Given the description of an element on the screen output the (x, y) to click on. 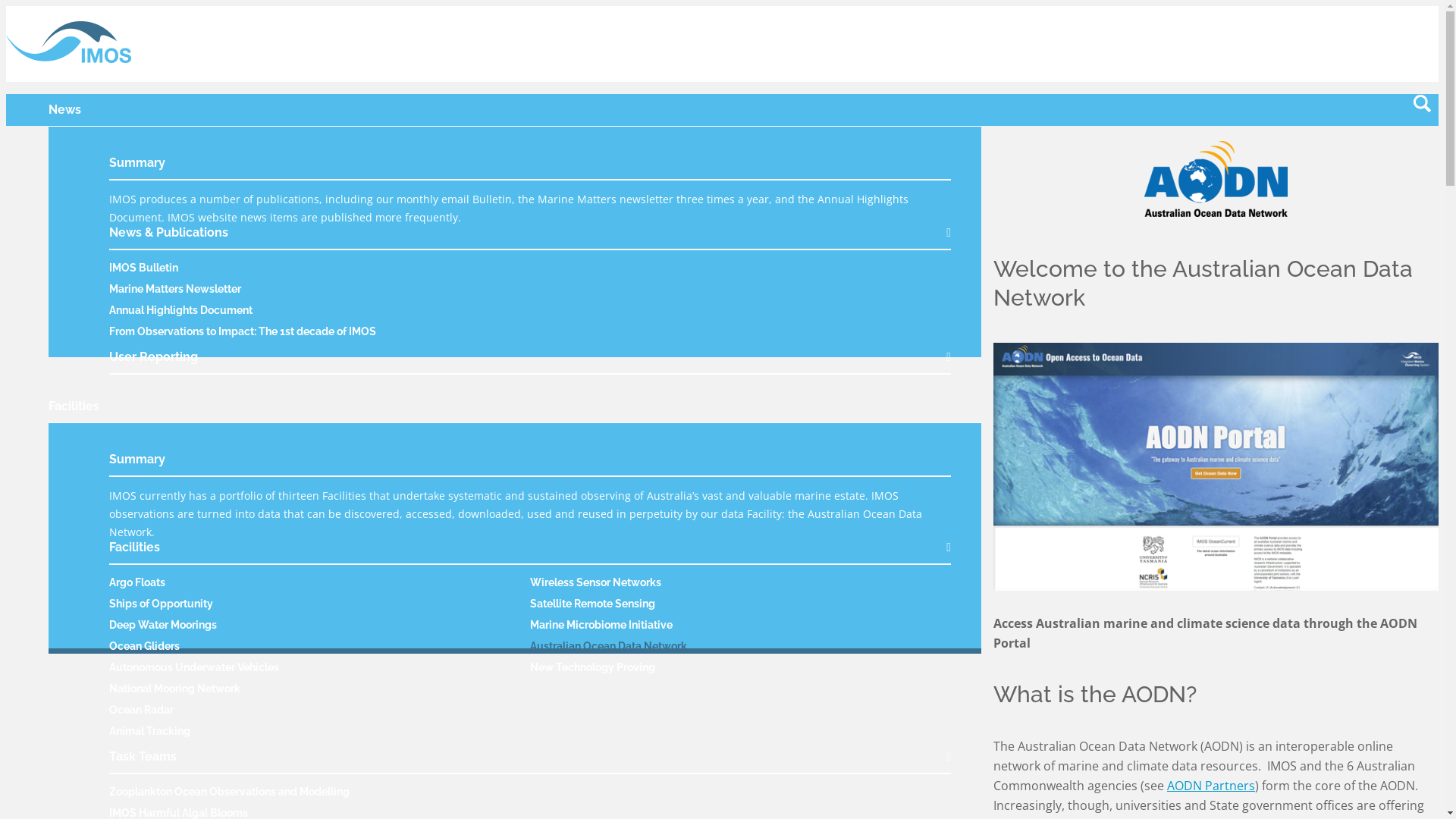
Marine Microbiome Initiative Element type: text (601, 624)
Ocean Gliders Element type: text (144, 646)
National Mooring Network Element type: text (174, 688)
From Observations to Impact: The 1st decade of IMOS Element type: text (242, 331)
Annual Highlights Document Element type: text (180, 310)
Ships of Opportunity Element type: text (161, 603)
Autonomous Underwater Vehicles Element type: text (194, 667)
Animal Tracking Element type: text (149, 730)
Satellite Remote Sensing Element type: text (592, 603)
Deep Water Moorings Element type: text (162, 624)
User Reporting Element type: text (529, 362)
Ocean Radar Element type: text (141, 709)
News Element type: text (64, 109)
Facilities Element type: text (529, 552)
Task Teams Element type: text (529, 762)
AODN Partners Element type: text (1211, 785)
Australian Ocean Data Network Element type: text (608, 646)
Marine Matters Newsletter Element type: text (175, 288)
News & Publications Element type: text (529, 238)
Wireless Sensor Networks Element type: text (595, 582)
Facilities Element type: text (73, 405)
IMOS Bulletin Element type: text (143, 267)
Argo Floats Element type: text (137, 582)
Zooplankton Ocean Observations and Modelling Element type: text (229, 791)
New Technology Proving Element type: text (592, 667)
